Given the description of an element on the screen output the (x, y) to click on. 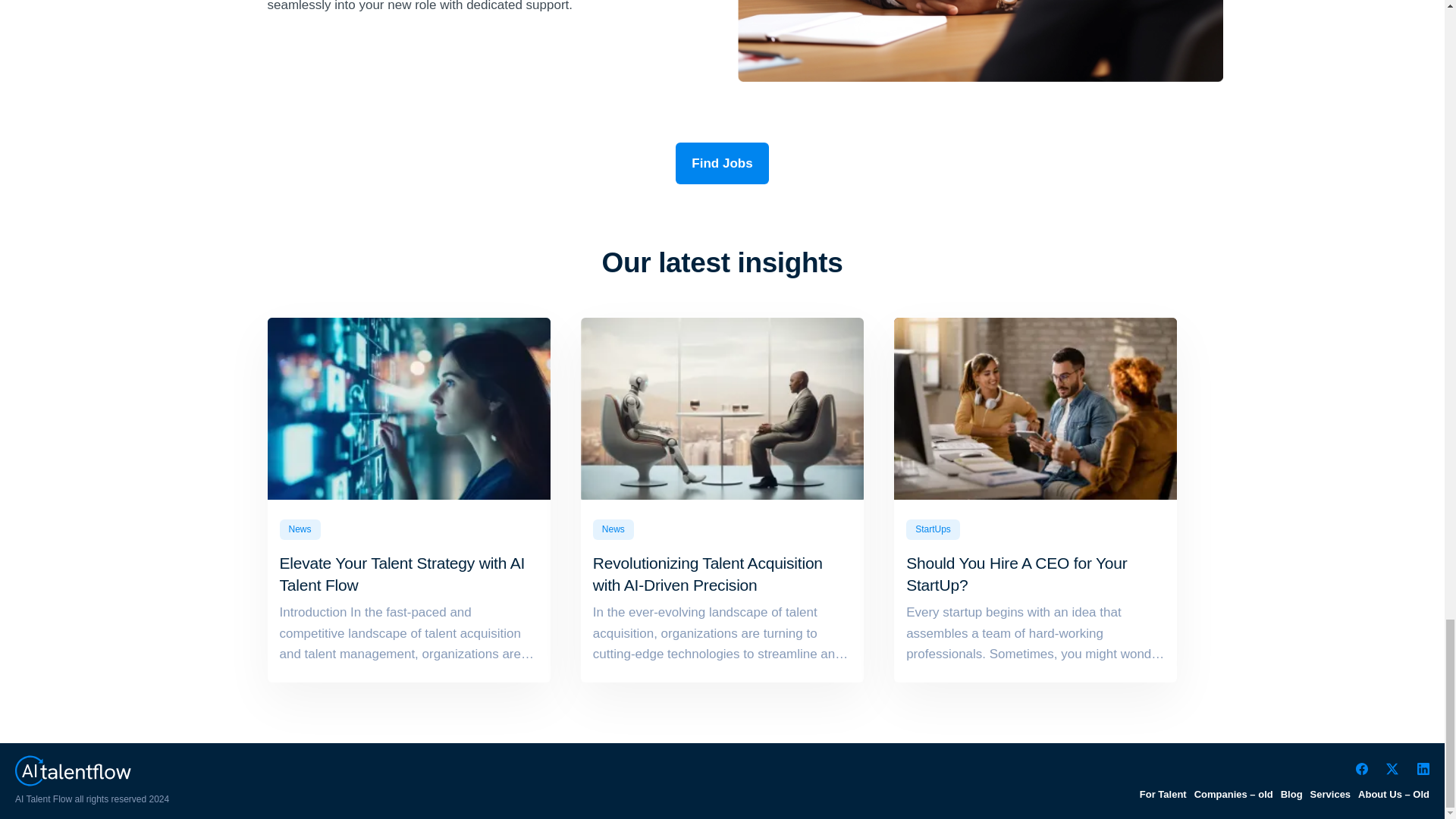
Find Jobs (721, 163)
Blog (1292, 795)
Services (1330, 795)
For Talent (1163, 795)
